Given the description of an element on the screen output the (x, y) to click on. 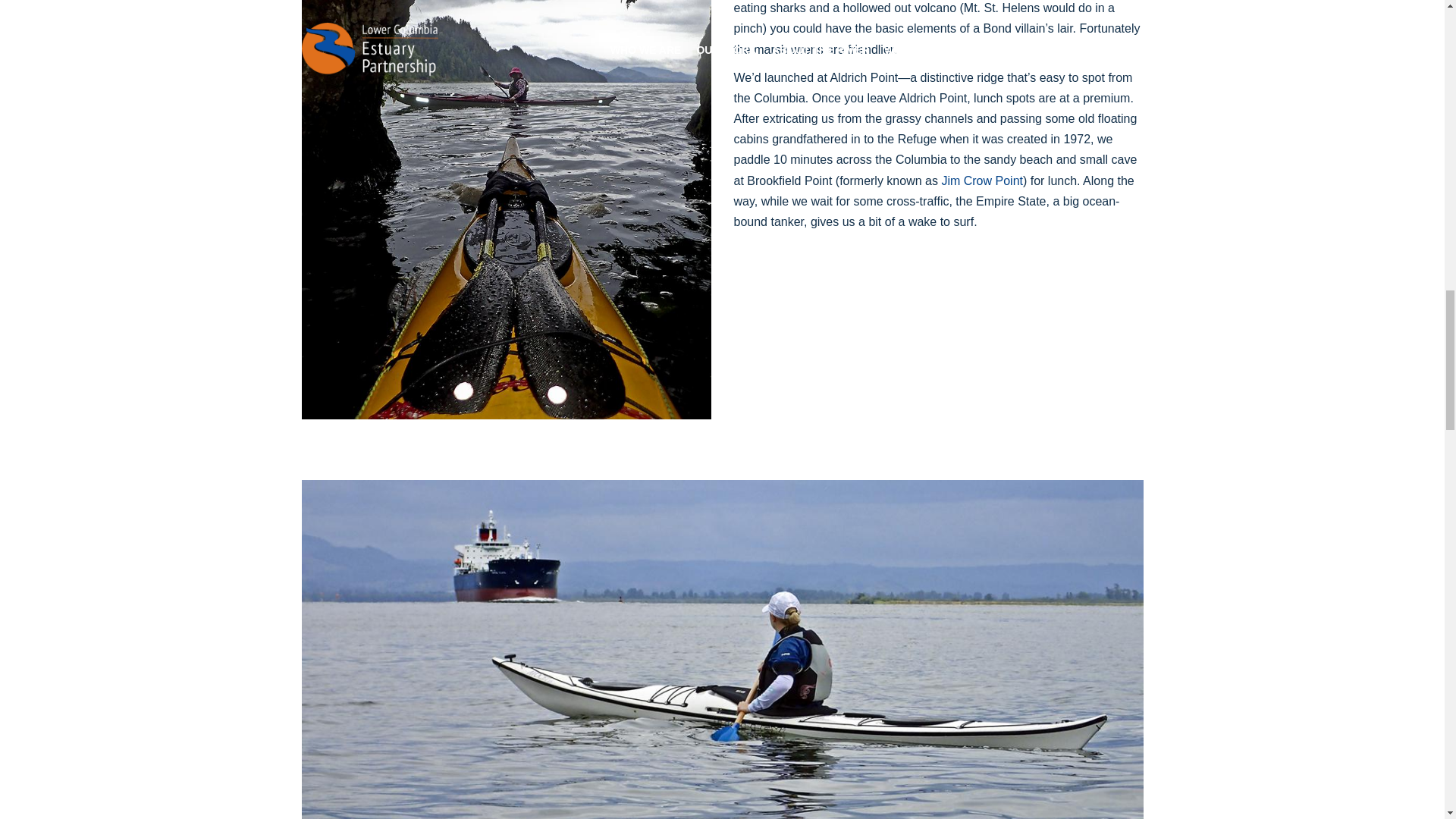
Jim Crow Point (981, 180)
